Given the description of an element on the screen output the (x, y) to click on. 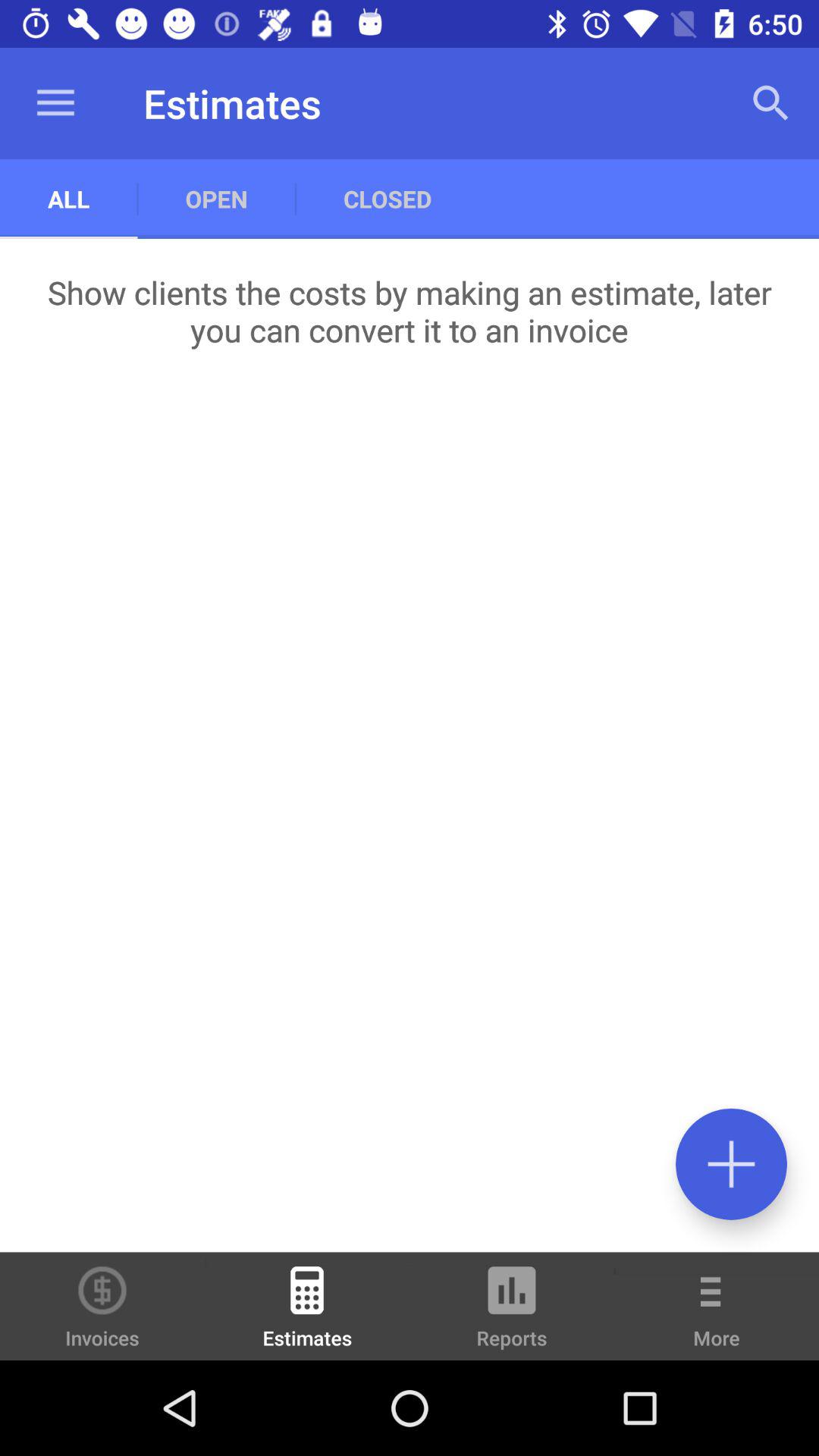
launch icon next to the reports icon (716, 1317)
